Given the description of an element on the screen output the (x, y) to click on. 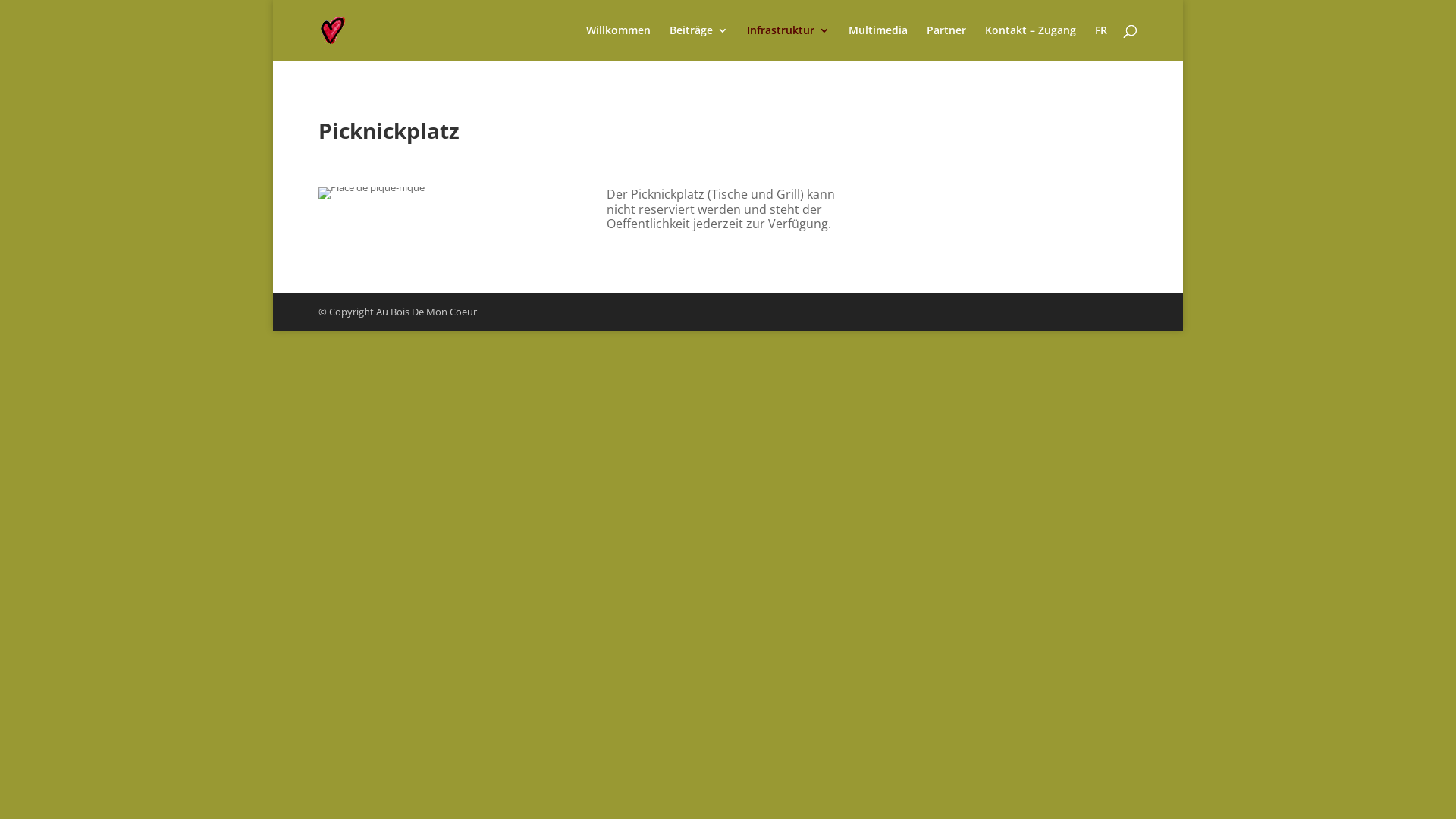
Willkommen Element type: text (618, 42)
Infrastruktur Element type: text (787, 42)
Partner Element type: text (946, 42)
FR Element type: text (1101, 42)
Multimedia Element type: text (877, 42)
